Given the description of an element on the screen output the (x, y) to click on. 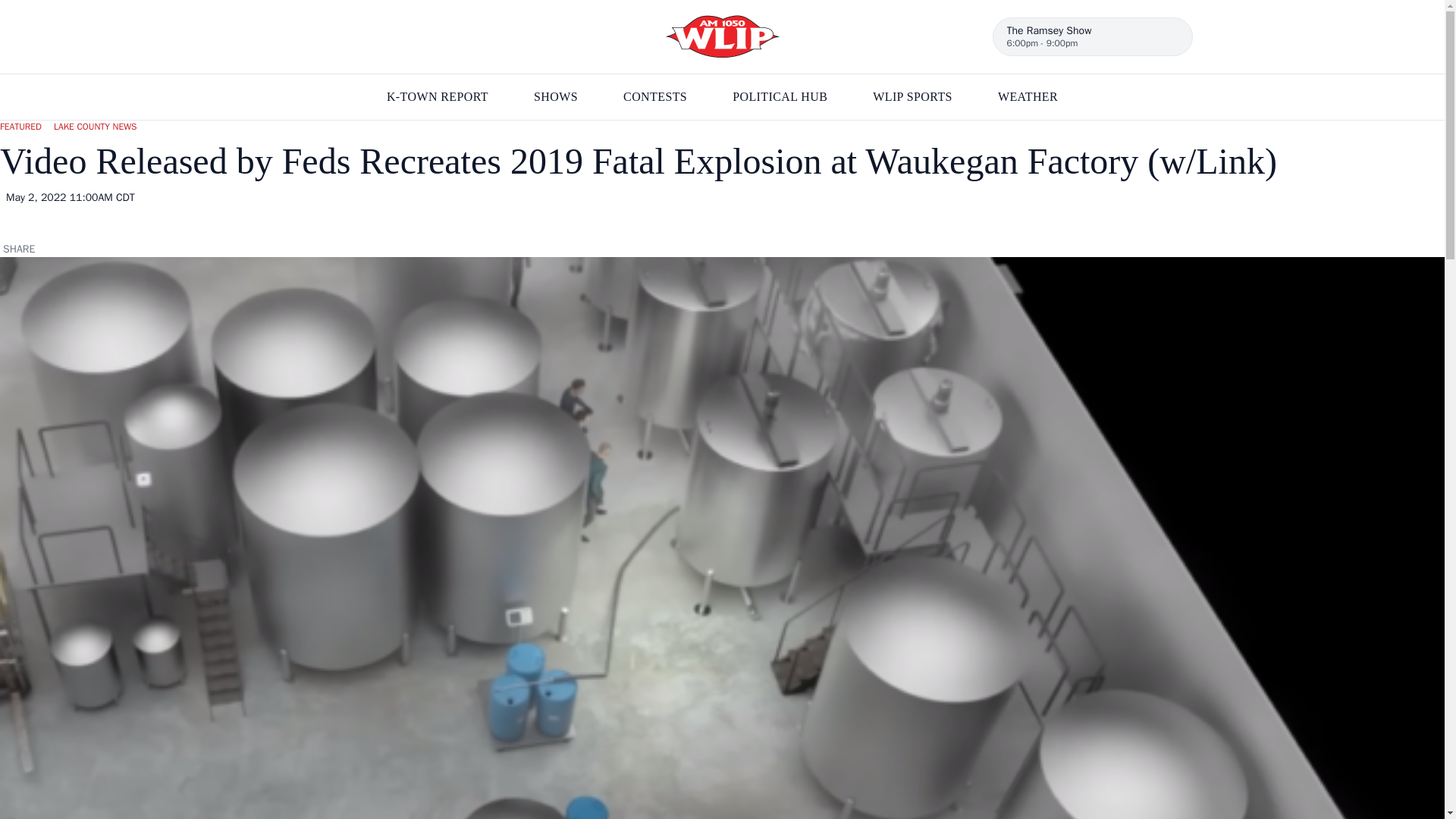
K-TOWN REPORT (437, 96)
WLIP SPORTS (1092, 36)
WEATHER (912, 96)
CONTESTS (1027, 96)
POLITICAL HUB (655, 96)
AM 1050 WLIP (779, 96)
SHOWS (721, 36)
